Given the description of an element on the screen output the (x, y) to click on. 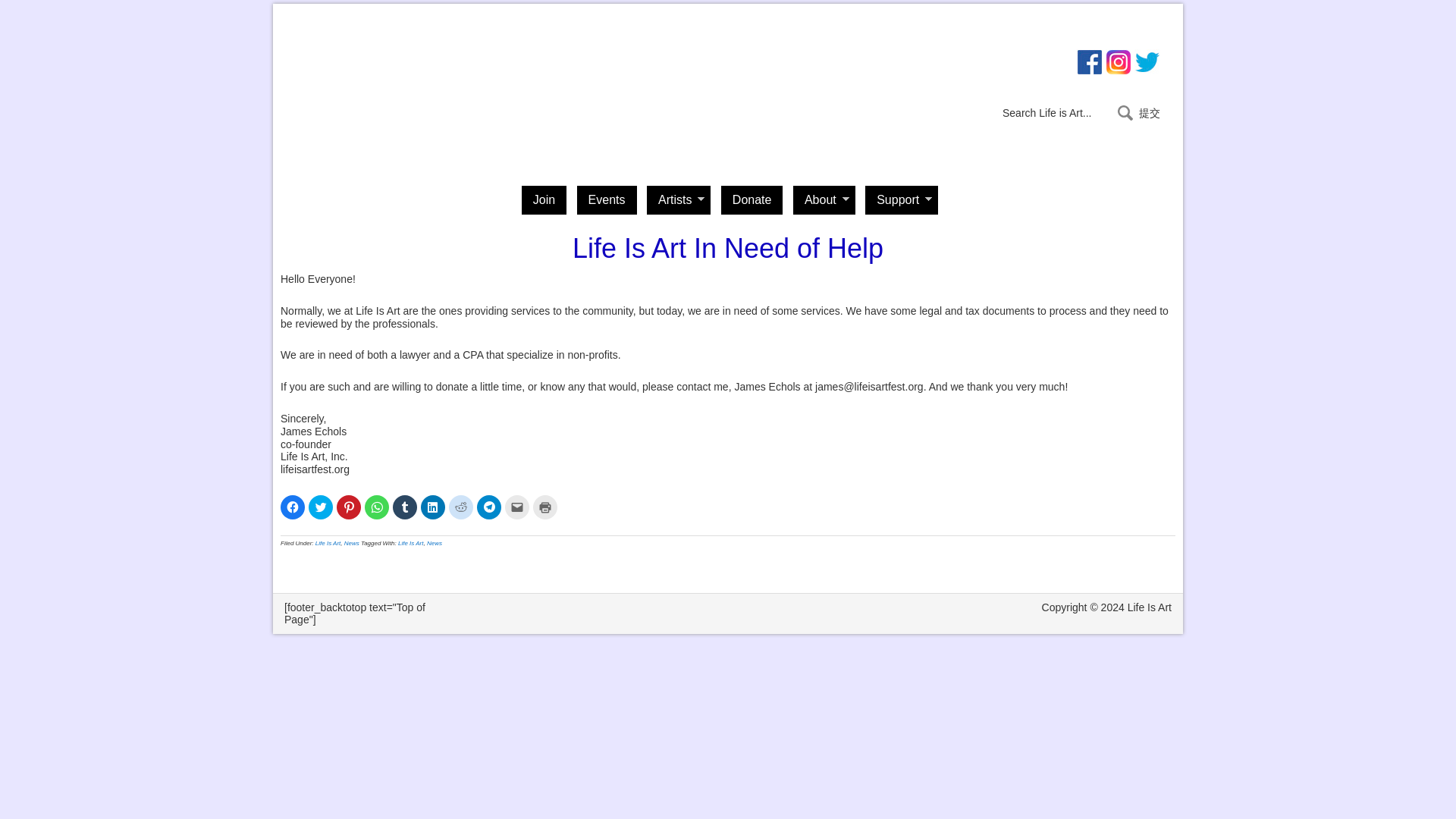
About (824, 200)
Click to share on Reddit (460, 507)
Click to share on Facebook (292, 507)
Click to share on Telegram (488, 507)
Click to email a link to a friend (517, 507)
Events (607, 200)
Support (901, 200)
Click to share on LinkedIn (432, 507)
Click to print (544, 507)
Life Is Art (327, 543)
Donate (751, 200)
Life Is Art (354, 81)
Artists (678, 200)
Click to share on Tumblr (404, 507)
Join (543, 200)
